Given the description of an element on the screen output the (x, y) to click on. 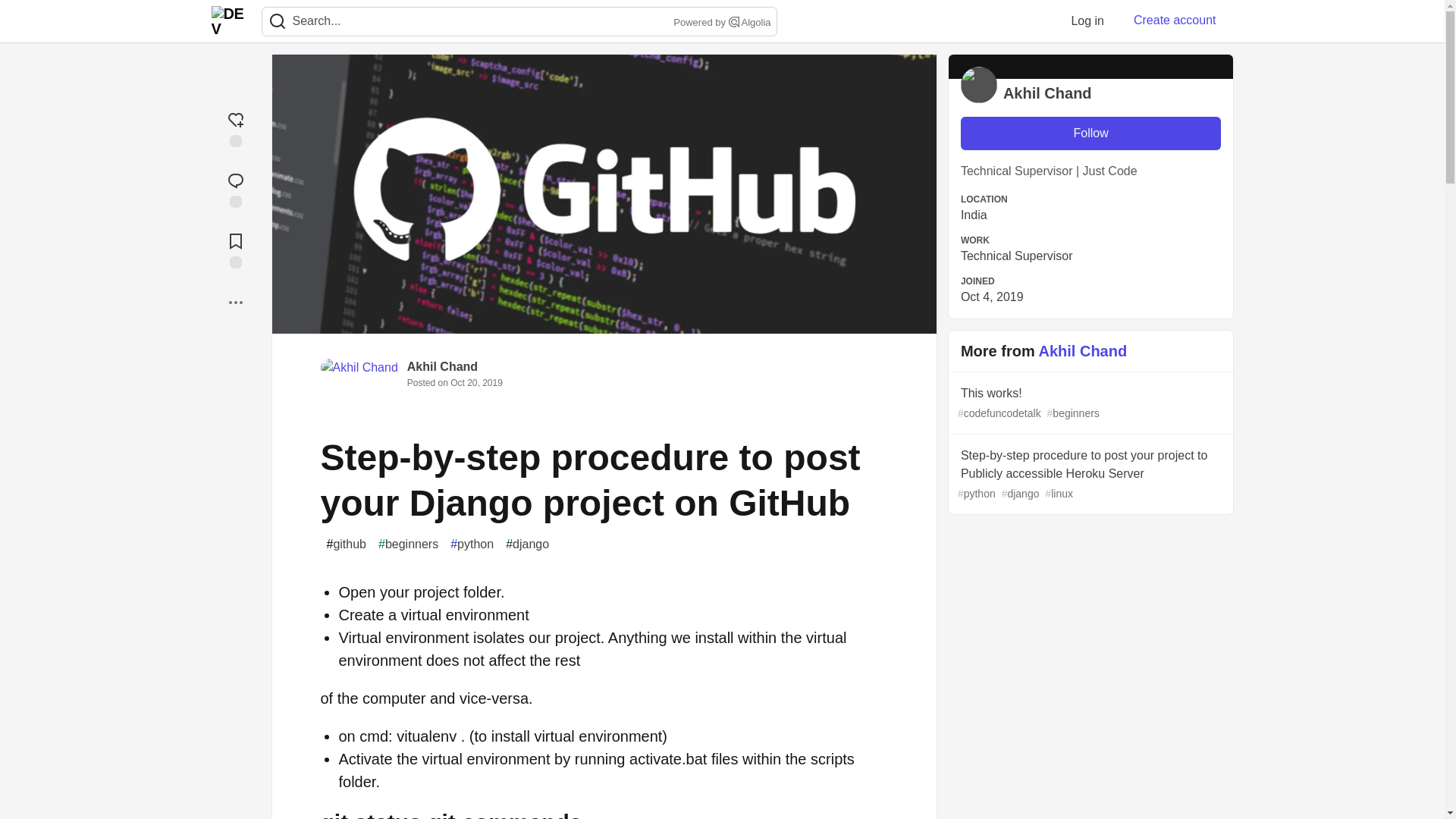
Search (734, 21)
Powered by Search Algolia (720, 22)
Log in (1087, 20)
Search (277, 21)
Sunday, October 20, 2019 at 9:03:13 AM (475, 382)
More... (234, 302)
Create account (1174, 20)
More... (234, 302)
Akhil Chand (442, 366)
Search (276, 21)
